Given the description of an element on the screen output the (x, y) to click on. 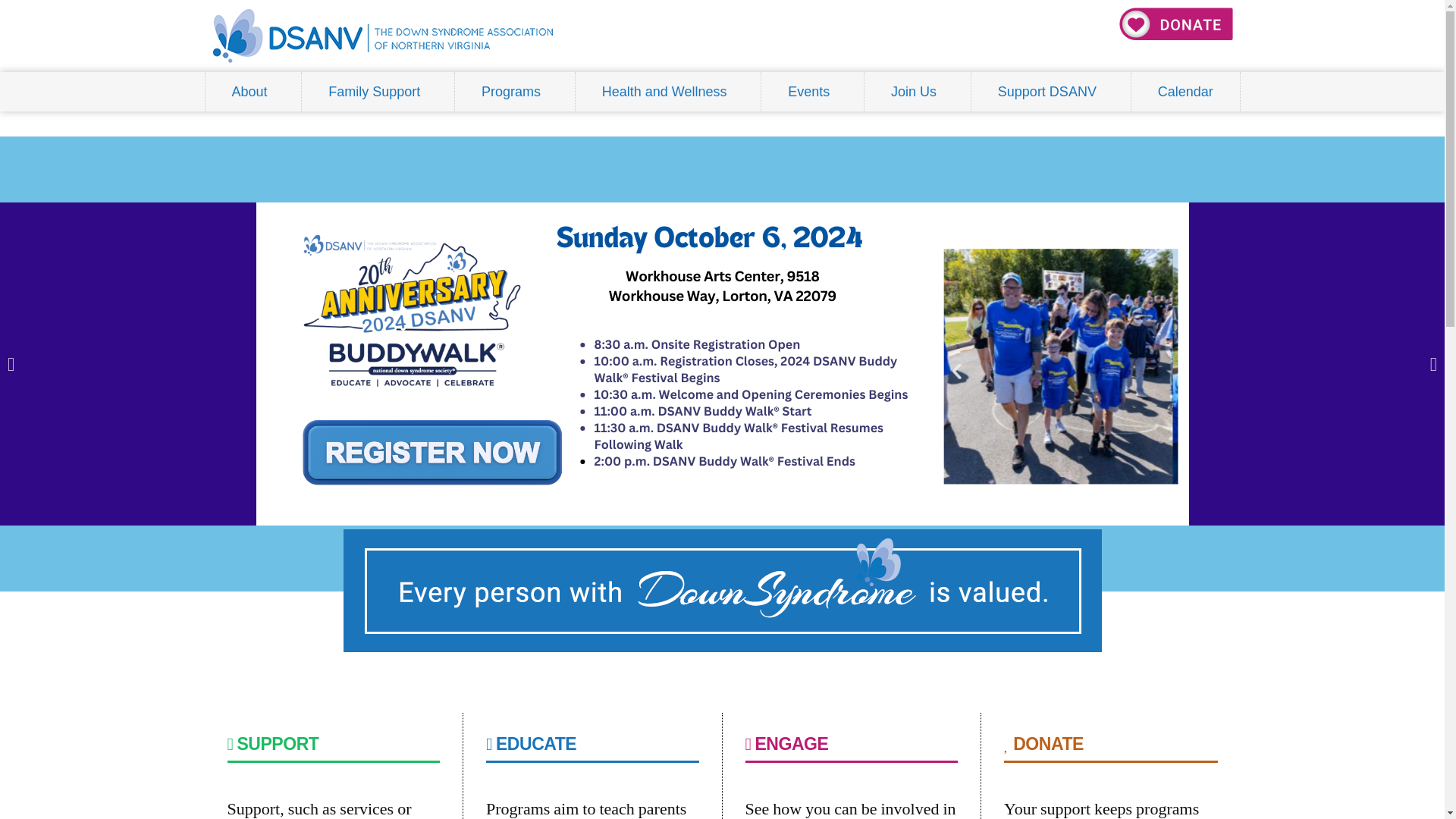
Programs (514, 91)
Family Support (377, 91)
About (253, 91)
Health and Wellness (668, 91)
The Down Syndrome Association of Northern Virginia (382, 35)
Donate to DSANV (1176, 23)
Join Us (917, 91)
Every person with Down syndrome is a valued. (721, 590)
Events (812, 91)
